Given the description of an element on the screen output the (x, y) to click on. 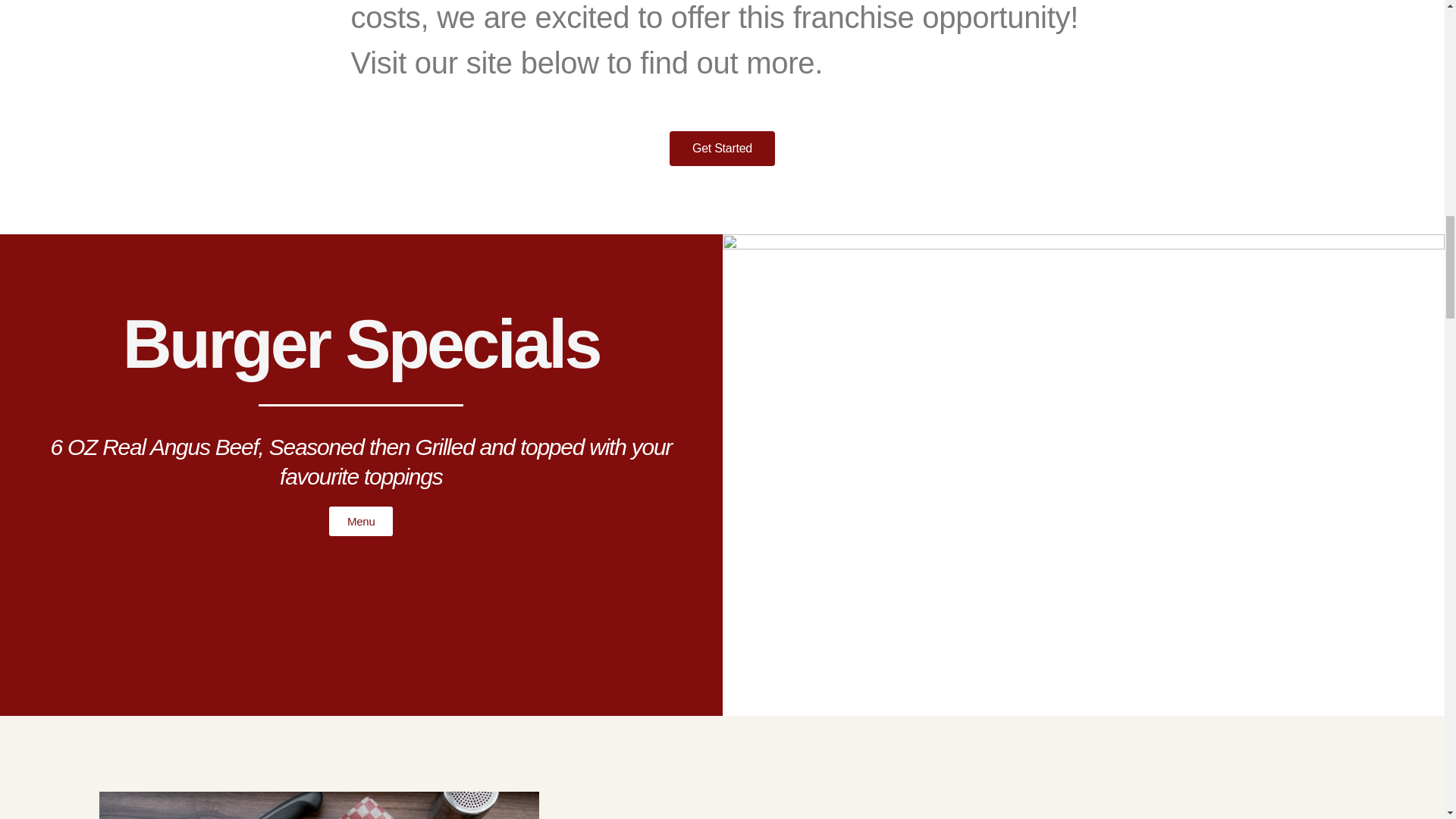
Get Started (721, 148)
Menu (361, 521)
